Given the description of an element on the screen output the (x, y) to click on. 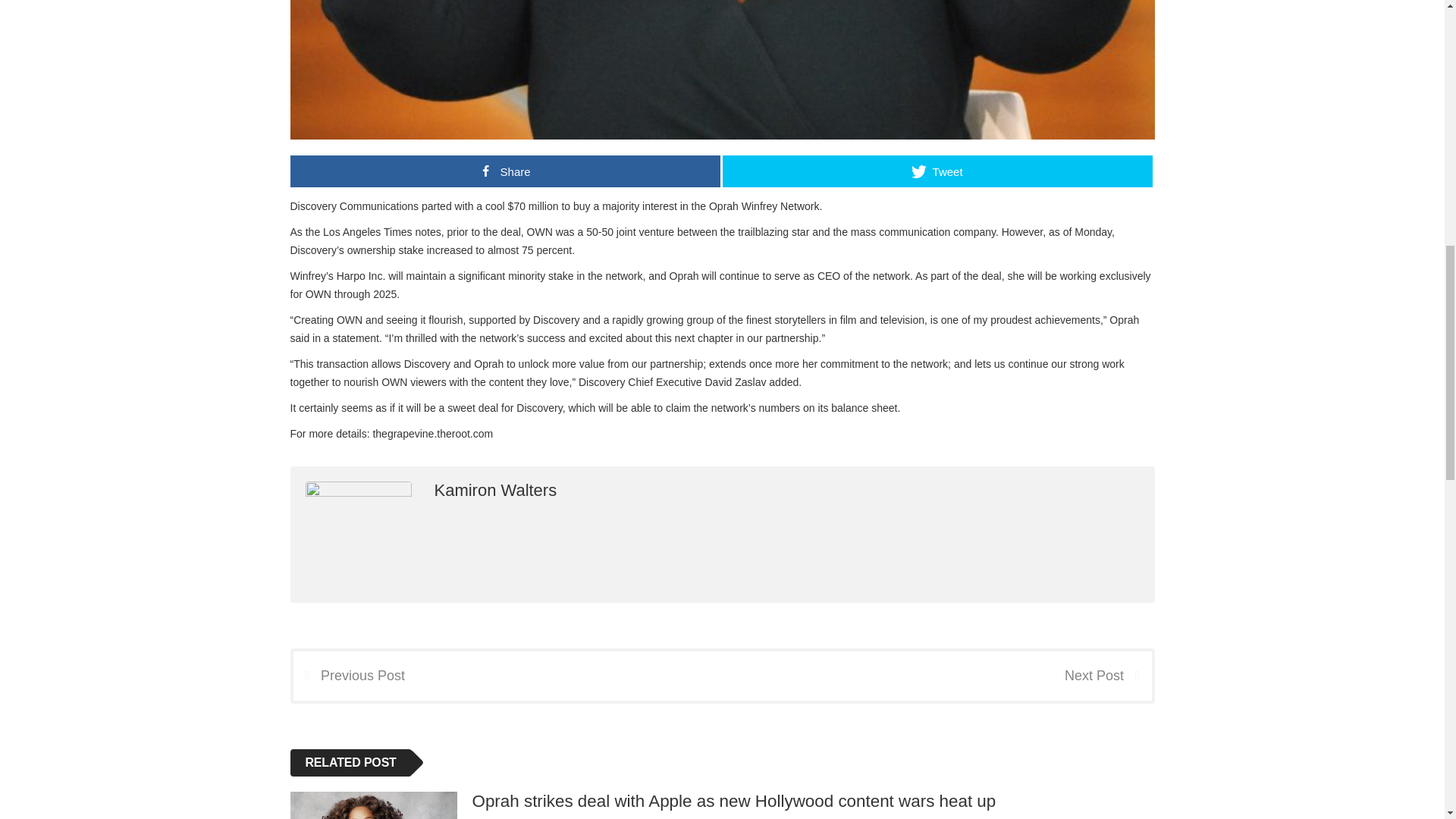
Next Post (1107, 675)
Previous Post (348, 675)
Share (504, 171)
thegrapevine.theroot.com (432, 433)
Tweet (936, 171)
Kamiron Walters (494, 489)
As the Los Angeles Times notes (365, 232)
